Given the description of an element on the screen output the (x, y) to click on. 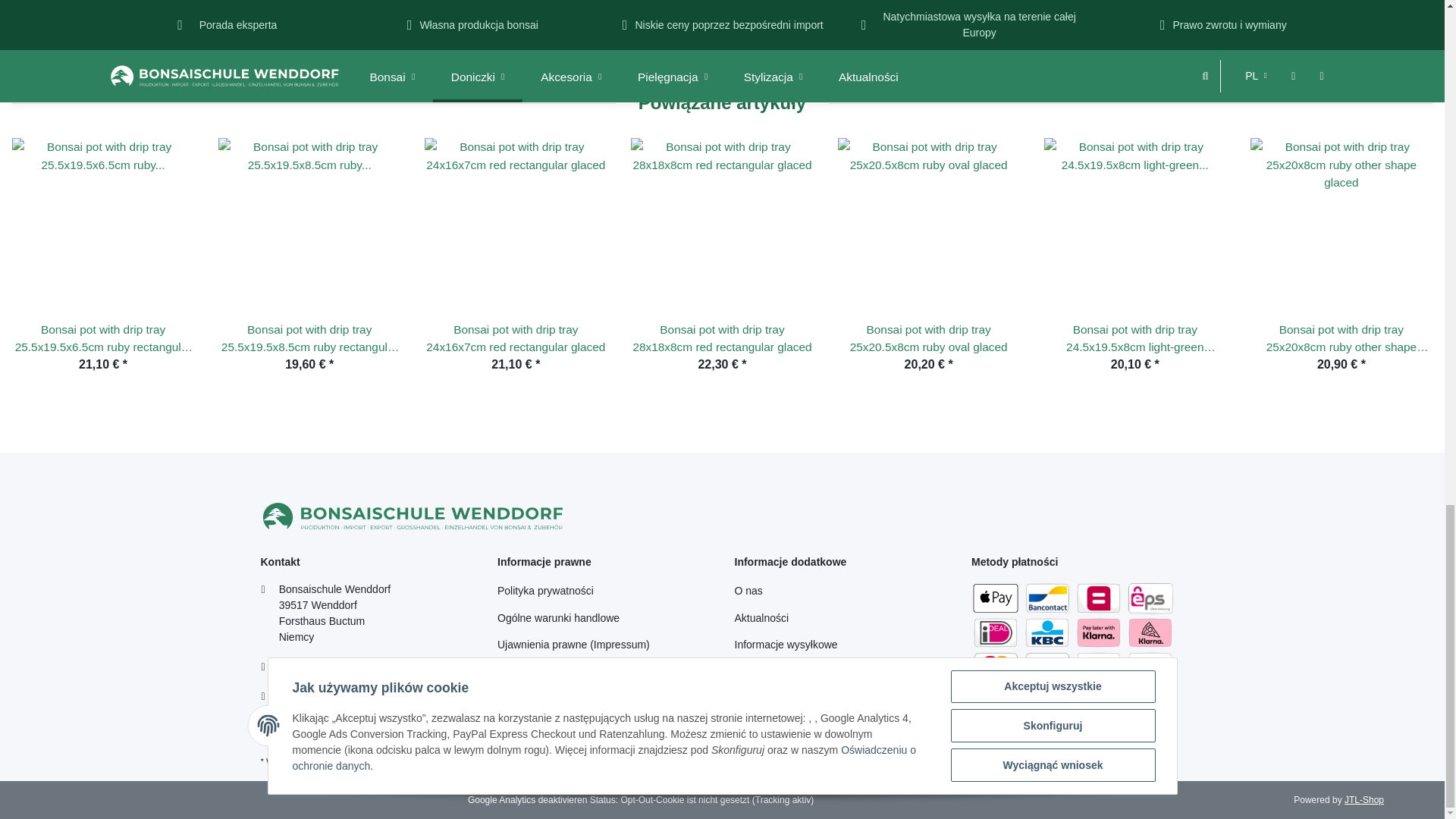
JTL-Shop (1363, 799)
